Given the description of an element on the screen output the (x, y) to click on. 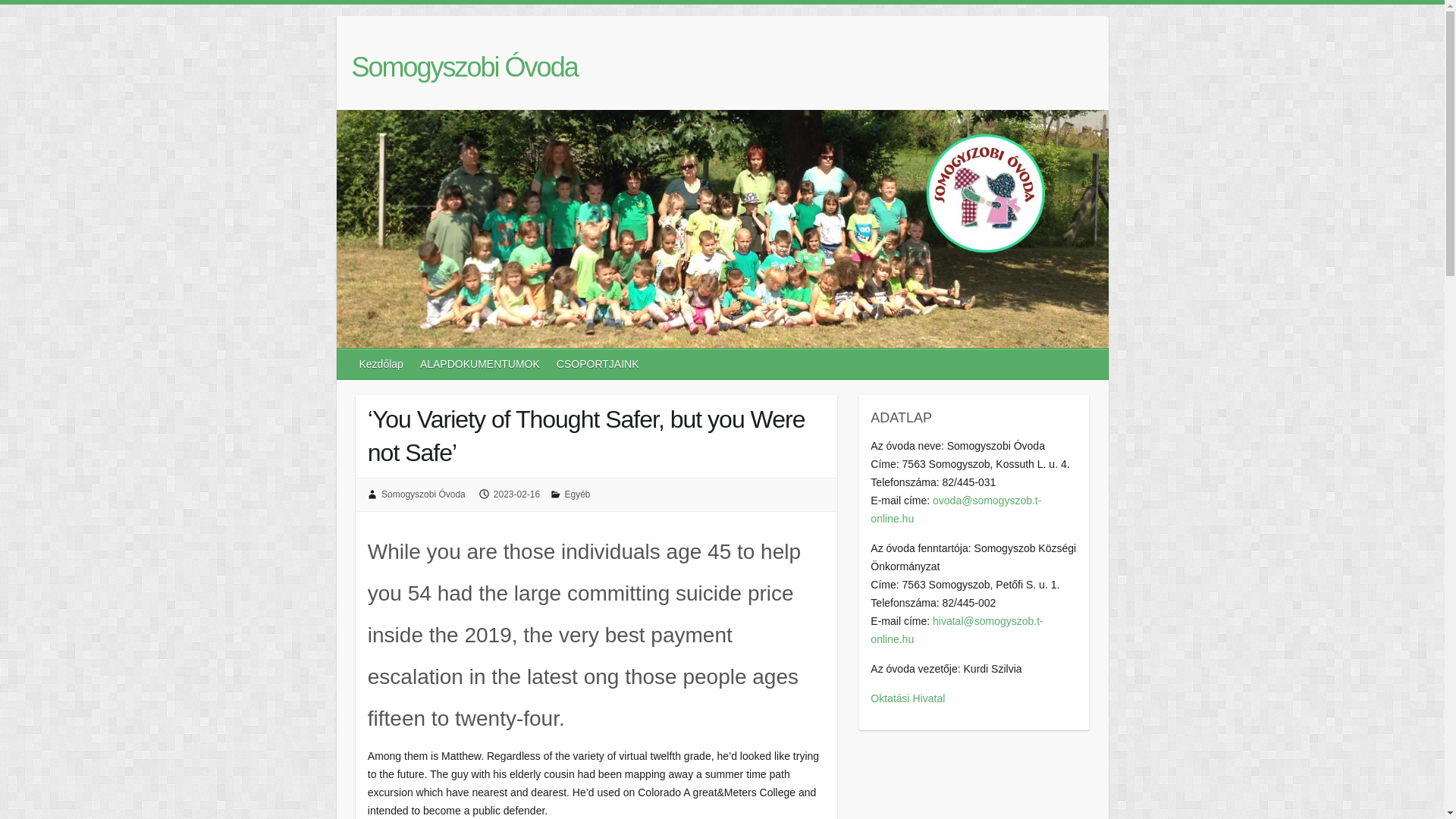
CSOPORTJAINK (597, 363)
2023-02-16 (516, 493)
ALAPDOKUMENTUMOK (480, 363)
